Given the description of an element on the screen output the (x, y) to click on. 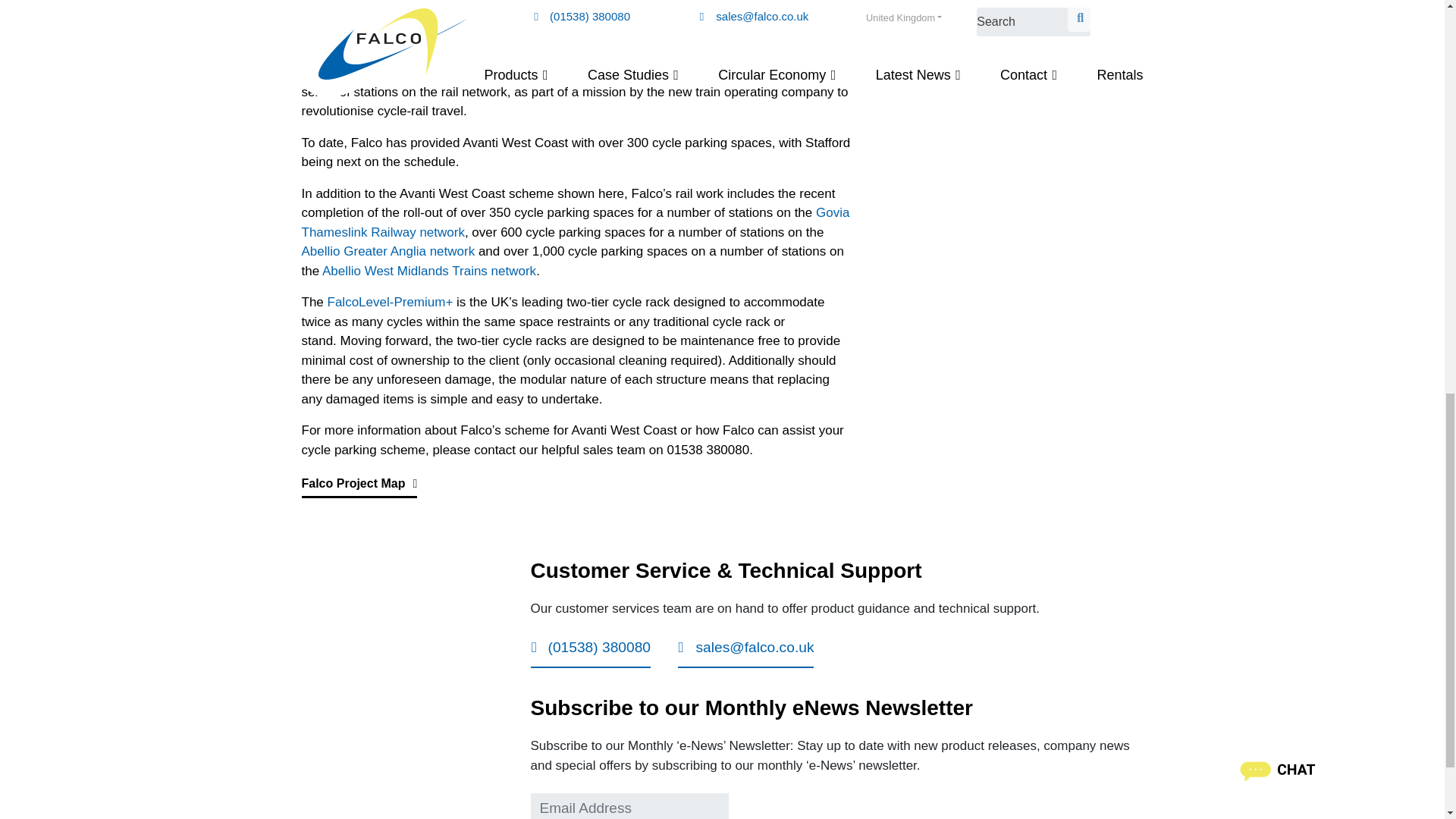
Cycle Hub (575, 15)
